Given the description of an element on the screen output the (x, y) to click on. 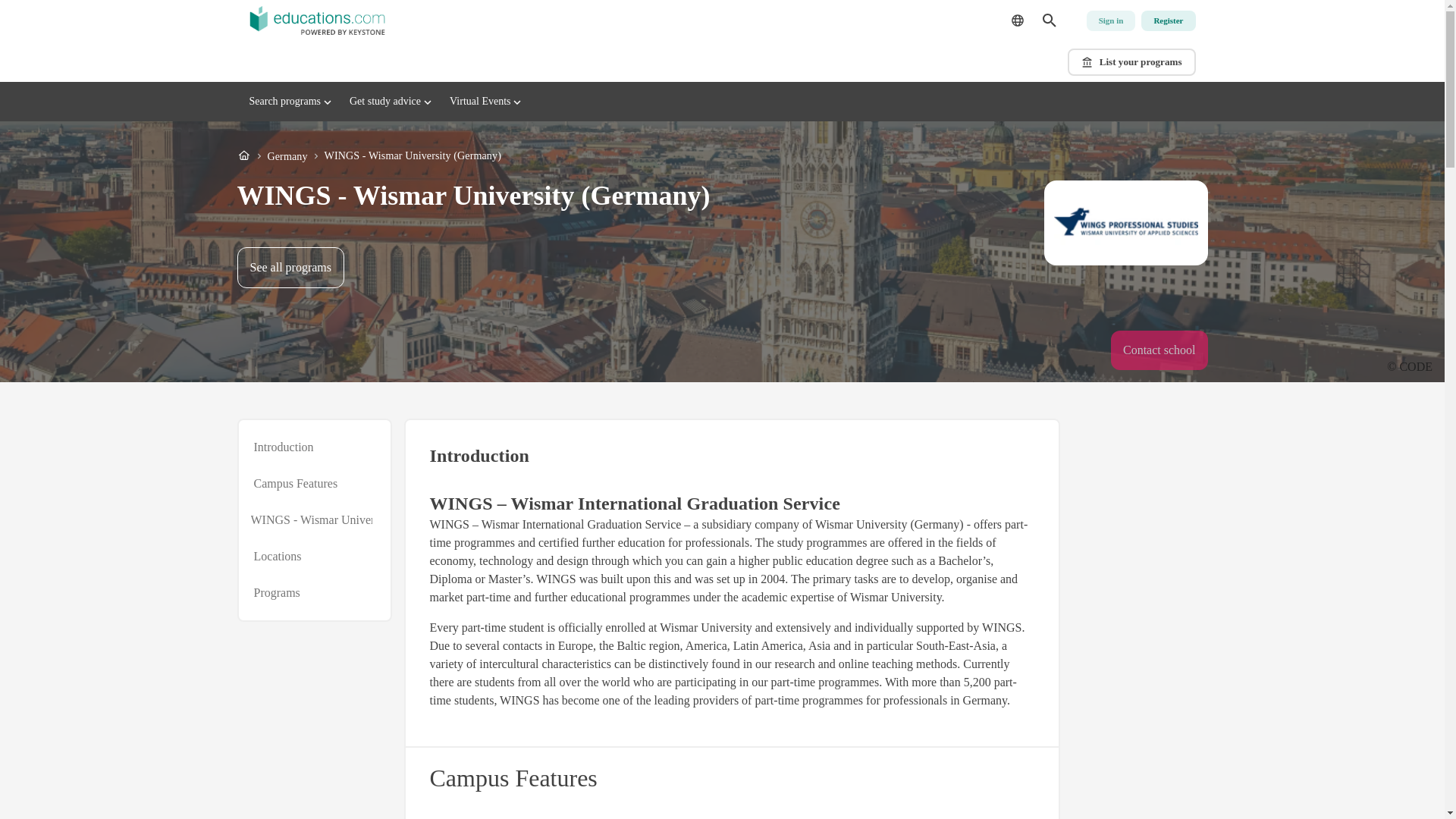
Programs (276, 592)
See all programs (289, 267)
Germany (286, 156)
Introduction (721, 101)
Locations (283, 447)
Contact school (277, 556)
Sign in (1159, 350)
Register (1110, 20)
Campus Features (1168, 20)
